Given the description of an element on the screen output the (x, y) to click on. 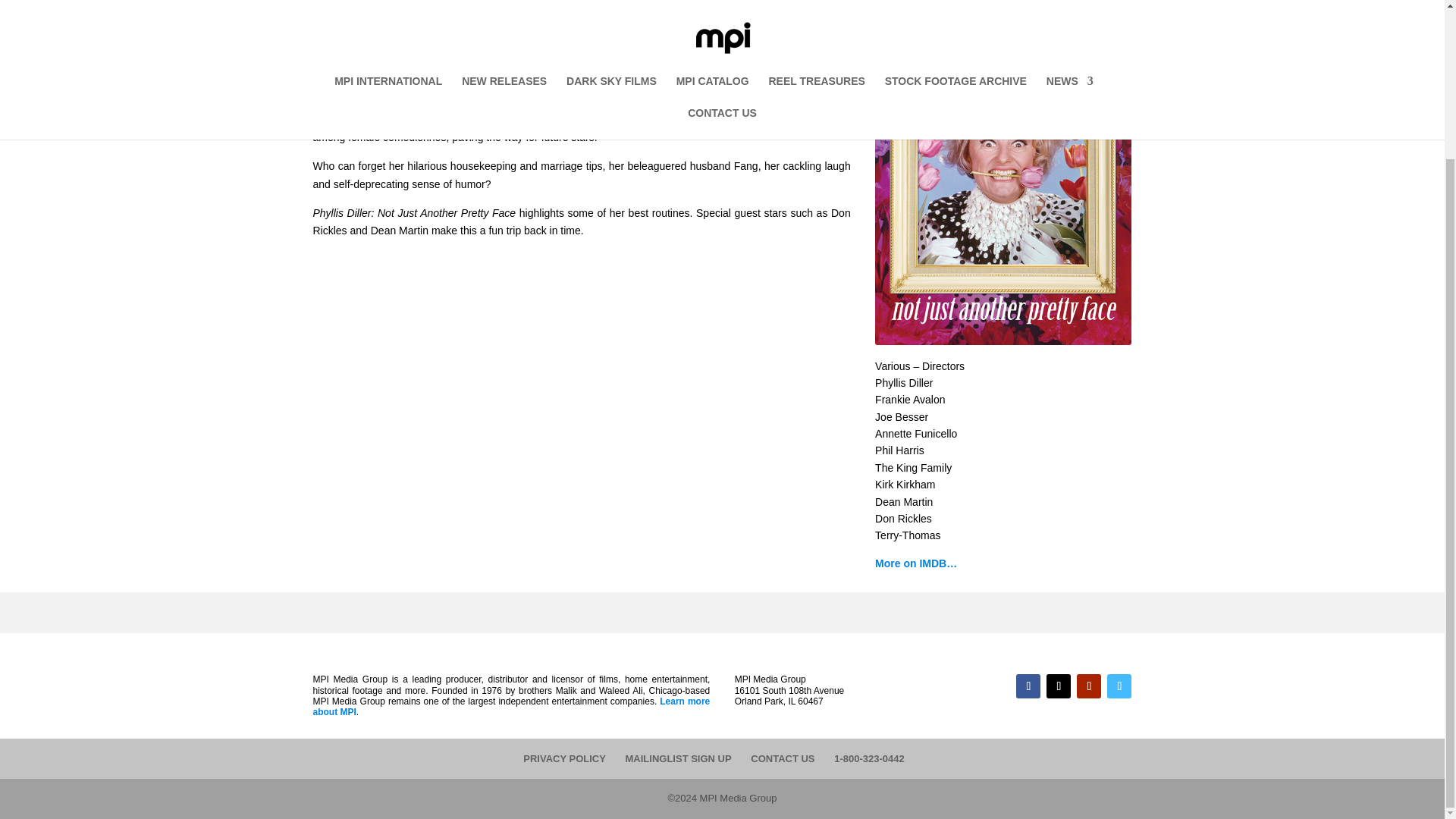
Follow on Vimeo (1118, 686)
CONTACT US (782, 758)
Follow on Facebook (1028, 686)
Follow on Youtube (1088, 686)
Learn more about MPI (511, 706)
MAILINGLIST SIGN UP (679, 758)
PRIVACY POLICY (563, 758)
Follow on Twitter (1058, 686)
1-800-323-0442 (869, 758)
